Given the description of an element on the screen output the (x, y) to click on. 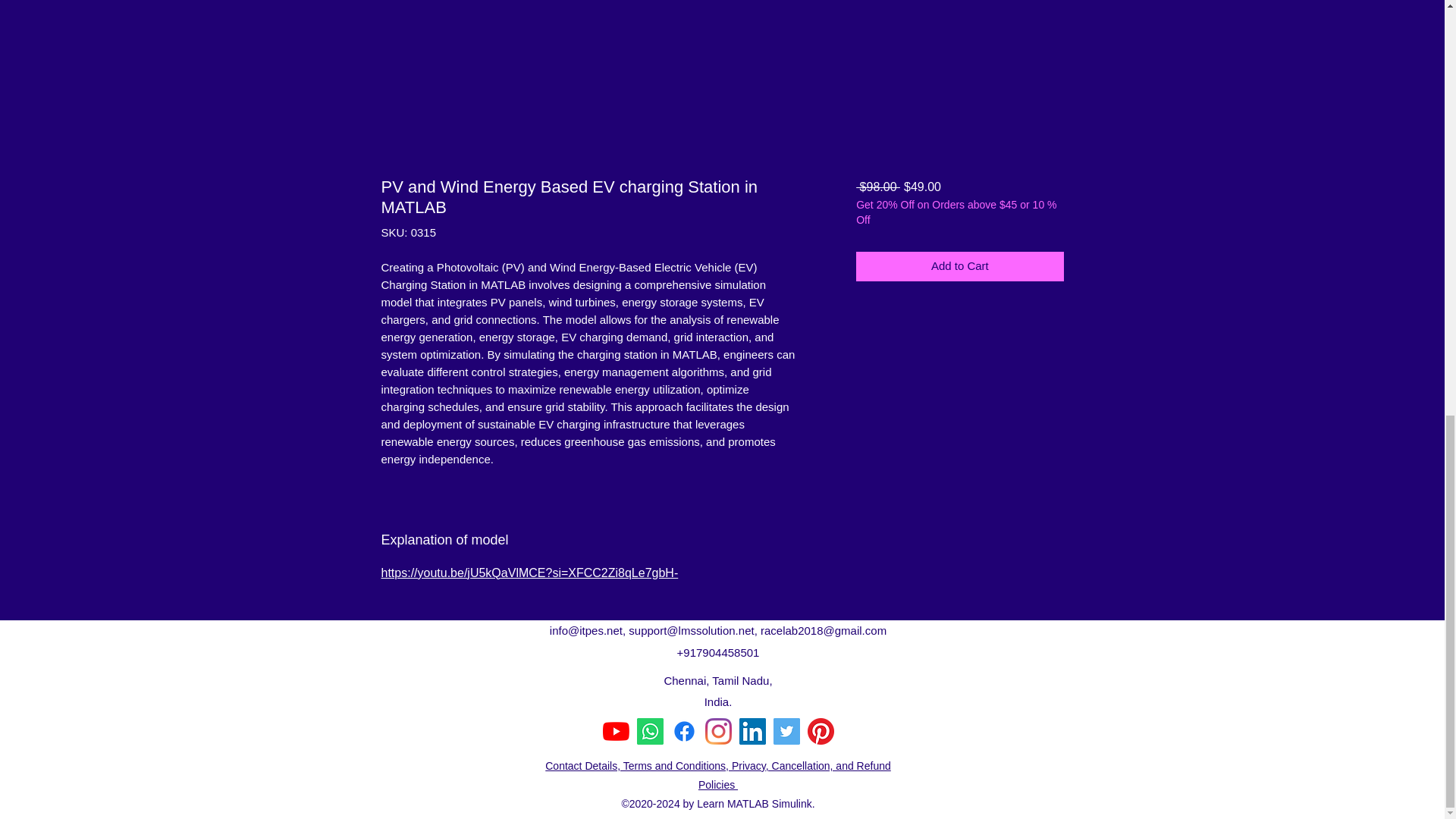
Add to Cart (959, 266)
